Given the description of an element on the screen output the (x, y) to click on. 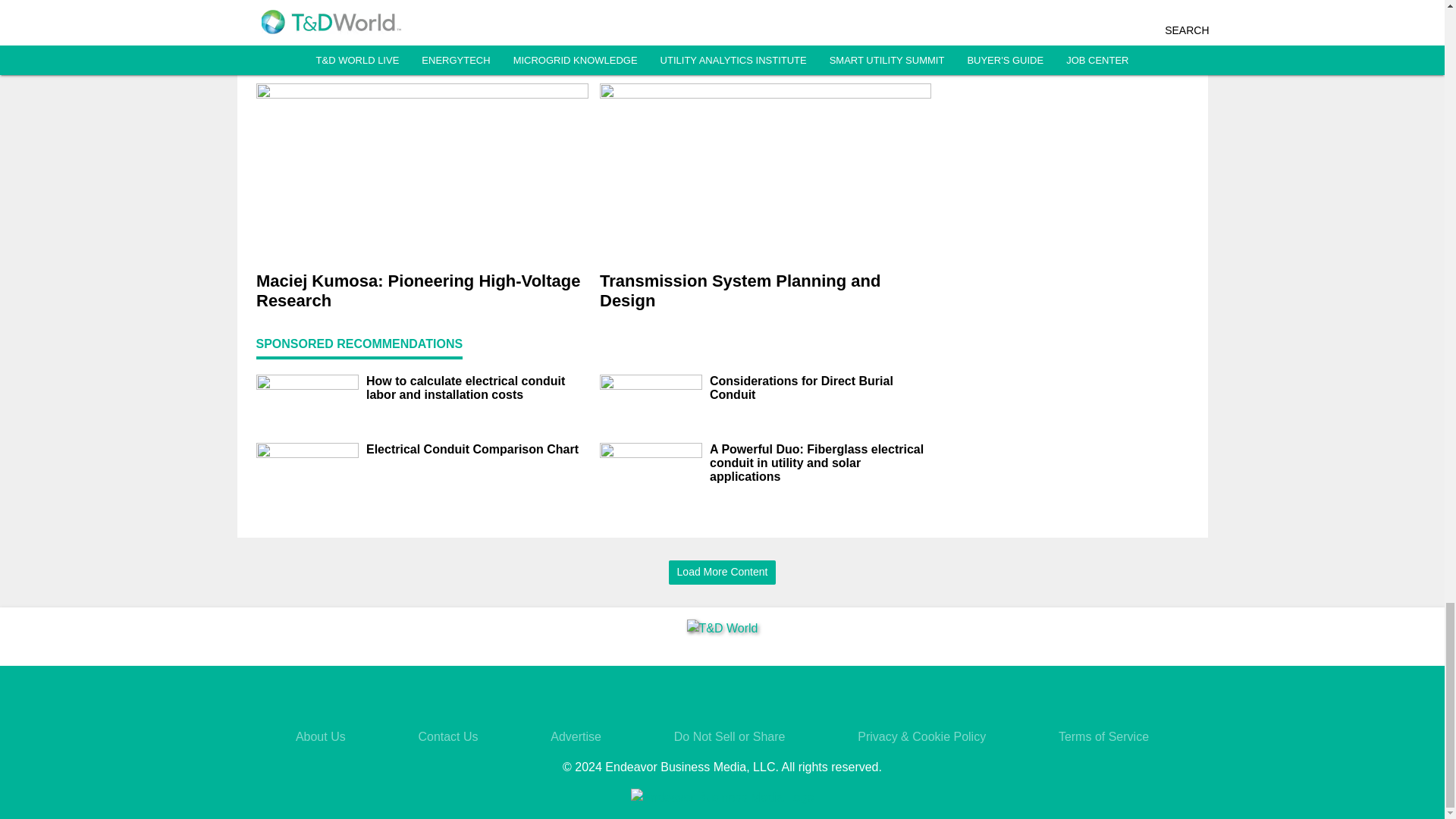
Maciej Kumosa: Pioneering High-Voltage Research (422, 291)
Considerations for Direct Burial Conduit (820, 388)
Transmission System Planning and Design (764, 291)
Electrical Conduit Comparison Chart (476, 449)
